Given the description of an element on the screen output the (x, y) to click on. 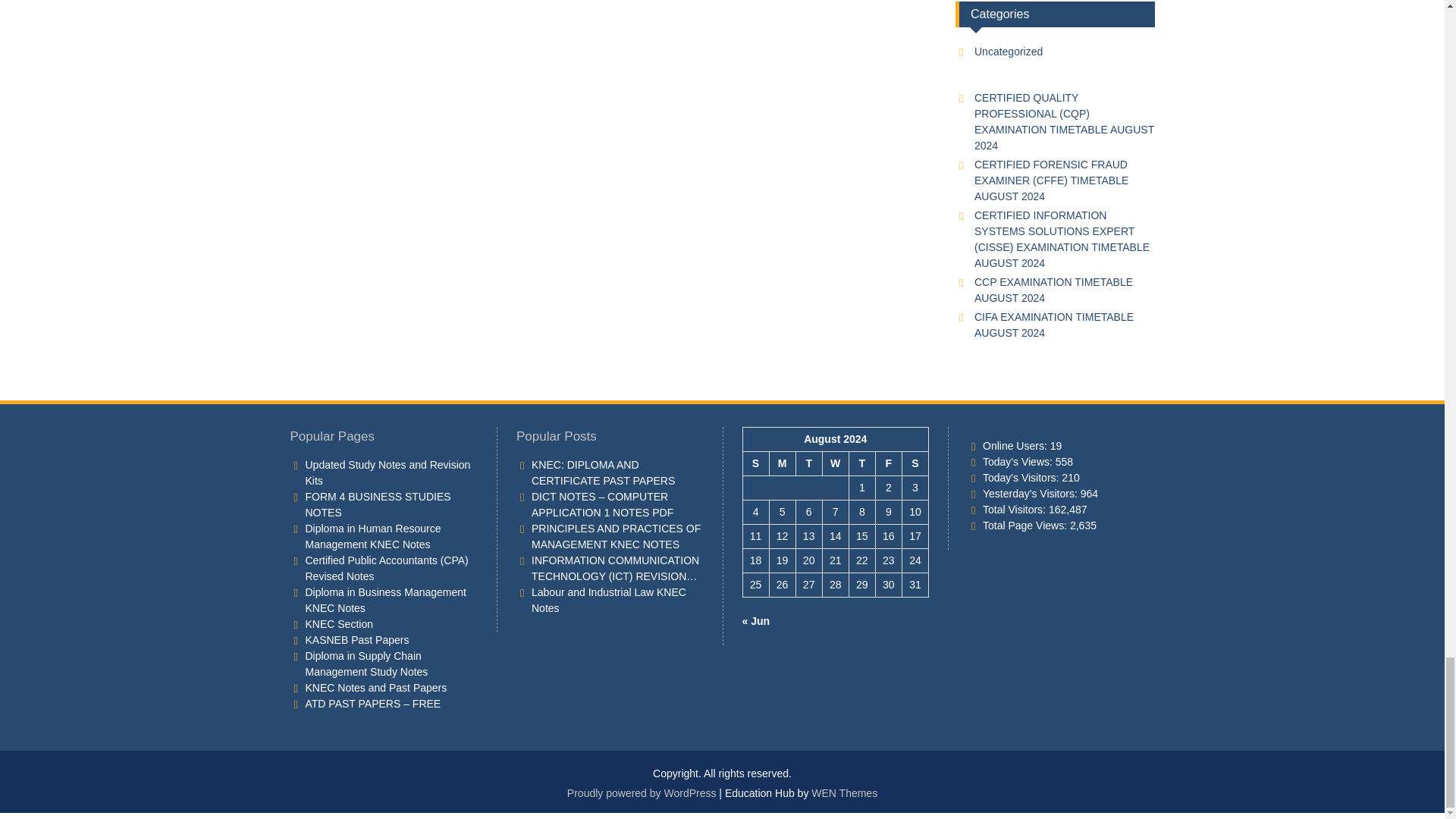
Friday (888, 463)
Thursday (861, 463)
Monday (781, 463)
Tuesday (808, 463)
Wednesday (835, 463)
Sunday (755, 463)
Saturday (914, 463)
